Given the description of an element on the screen output the (x, y) to click on. 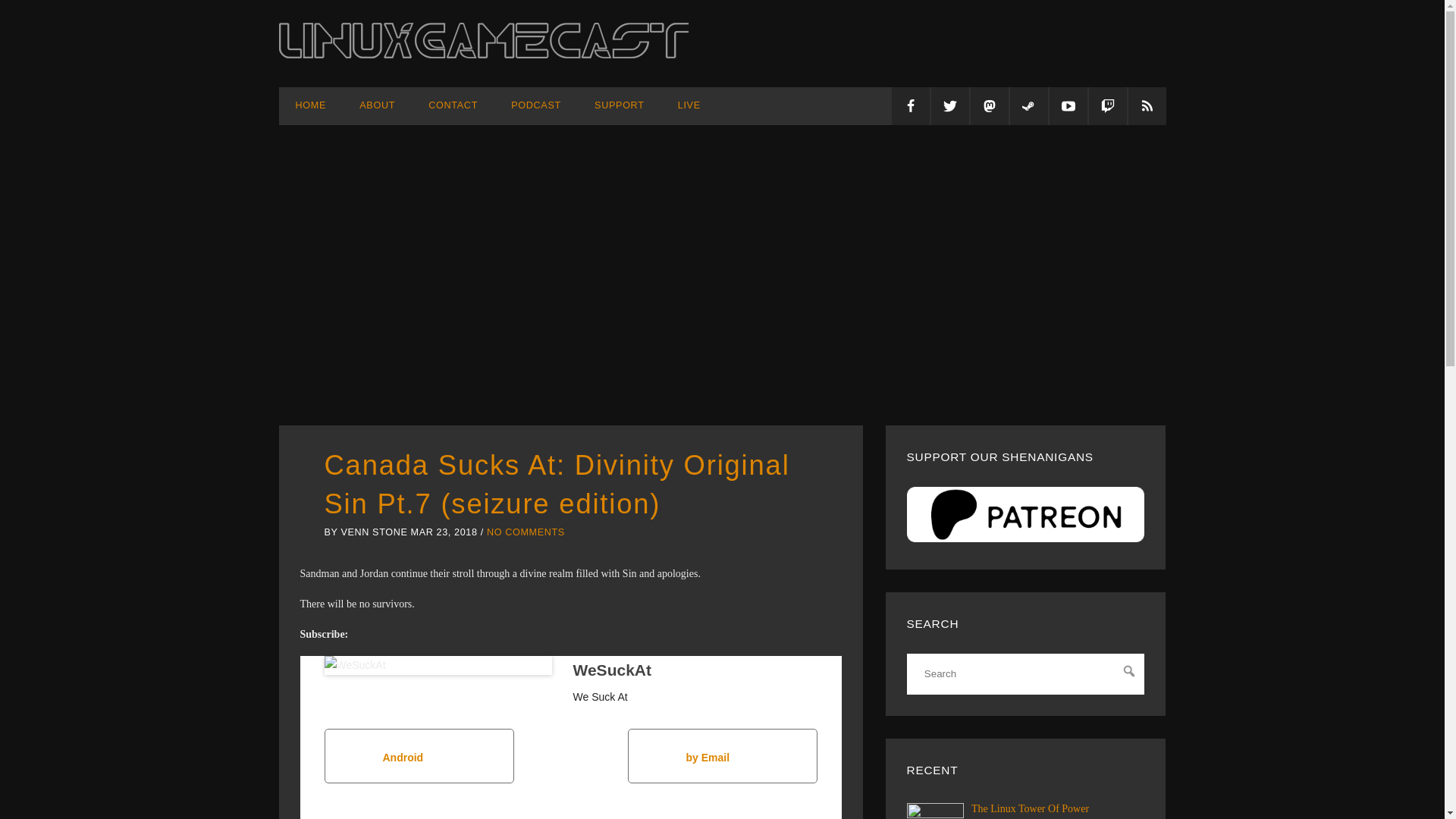
SUPPORT (619, 105)
Home (311, 105)
CONTACT (453, 105)
LIVE (689, 105)
by Email (721, 755)
PODCAST (536, 105)
Linux Game Cast (483, 54)
NO COMMENTS (525, 532)
Subscribe on Android (418, 755)
ABOUT (377, 105)
